Given the description of an element on the screen output the (x, y) to click on. 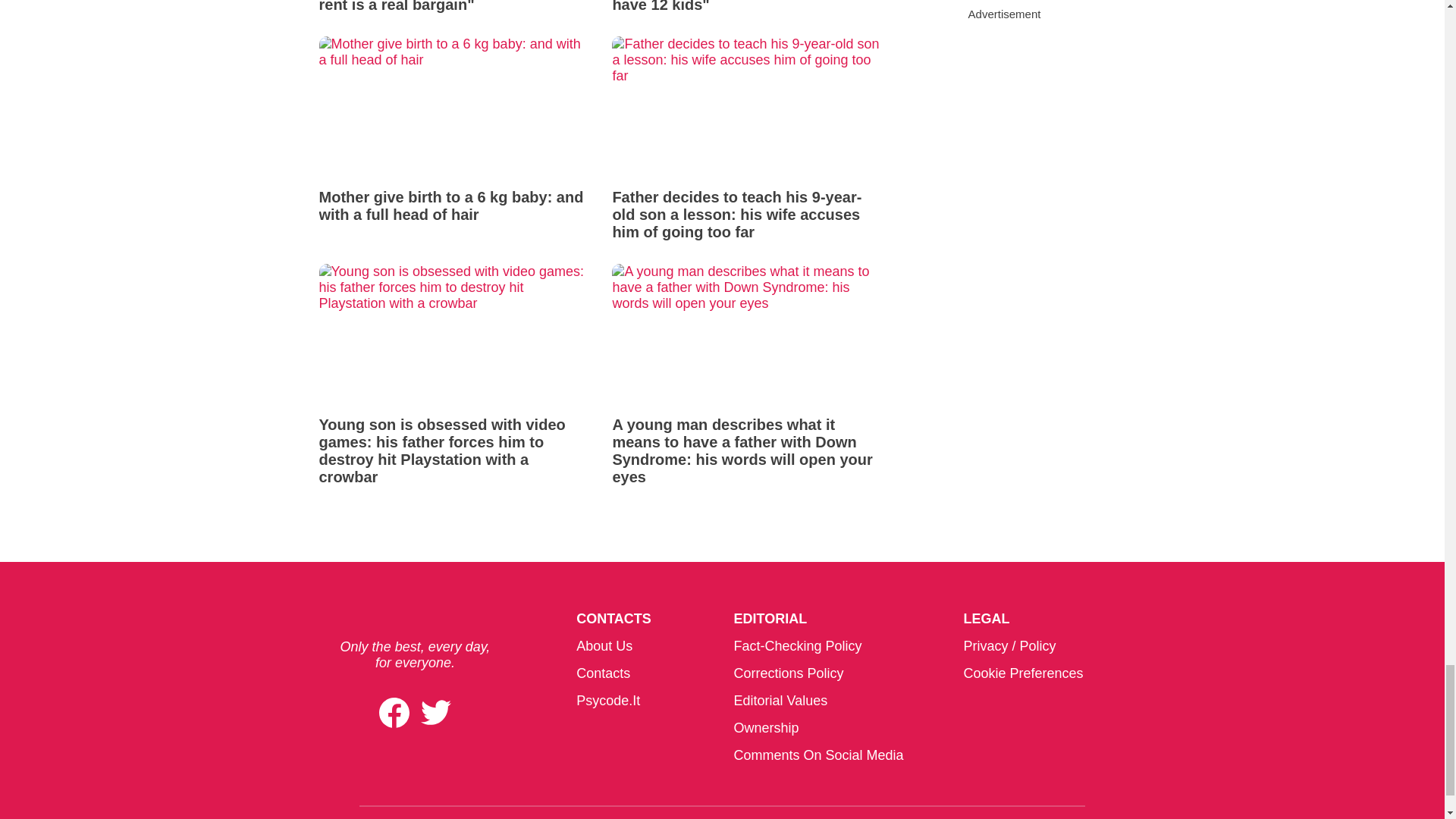
Ownership (765, 727)
Editorial Values (780, 700)
Psycode.It (608, 700)
Fact-Checking Policy (797, 645)
Contacts (603, 672)
About Us (603, 645)
Corrections Policy (788, 672)
Cookie Preferences (1022, 672)
